Given the description of an element on the screen output the (x, y) to click on. 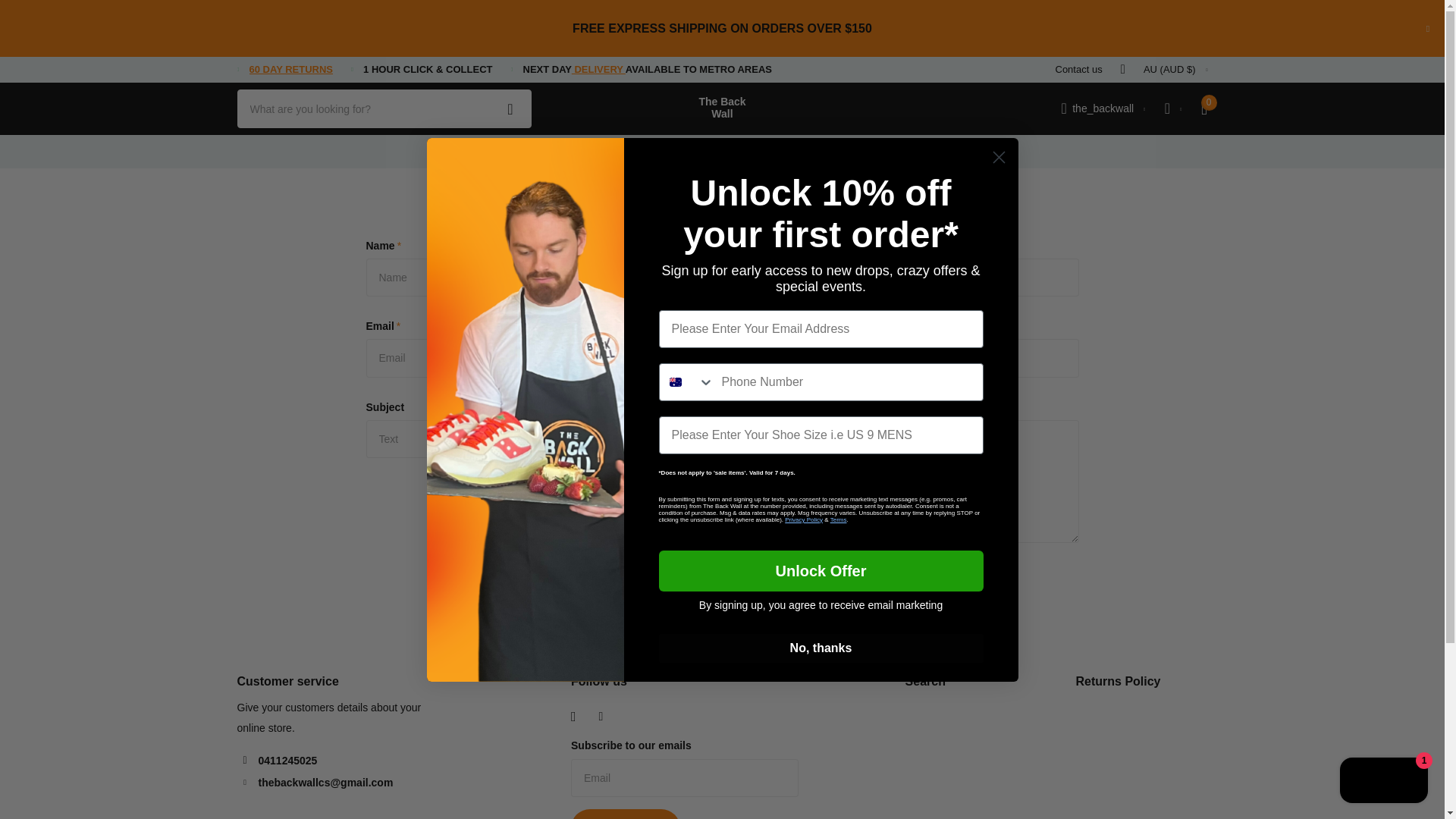
DELIVERY (599, 69)
Shipping Policy (599, 69)
Close (1427, 28)
Returns Policy (290, 69)
Australia (674, 381)
60 DAY RETURNS (290, 69)
Contact us (1078, 69)
Shopify online store chat (1383, 781)
